Given the description of an element on the screen output the (x, y) to click on. 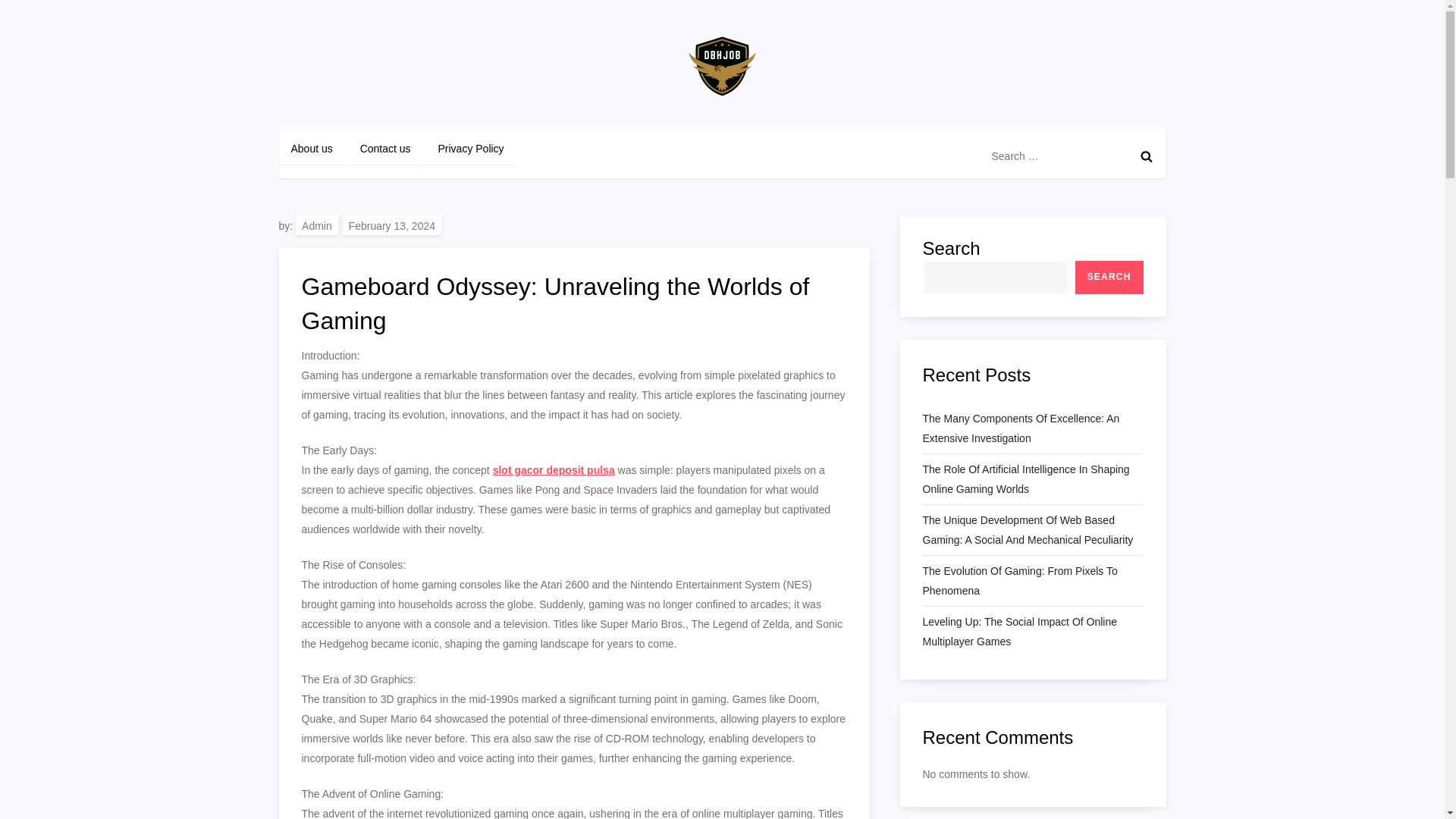
Contact us (385, 148)
Admin (316, 225)
February 13, 2024 (391, 225)
SEARCH (1108, 277)
slot gacor deposit pulsa (553, 469)
Leveling Up: The Social Impact Of Online Multiplayer Games (1031, 631)
The Evolution Of Gaming: From Pixels To Phenomena (1031, 580)
About us (312, 148)
